Given the description of an element on the screen output the (x, y) to click on. 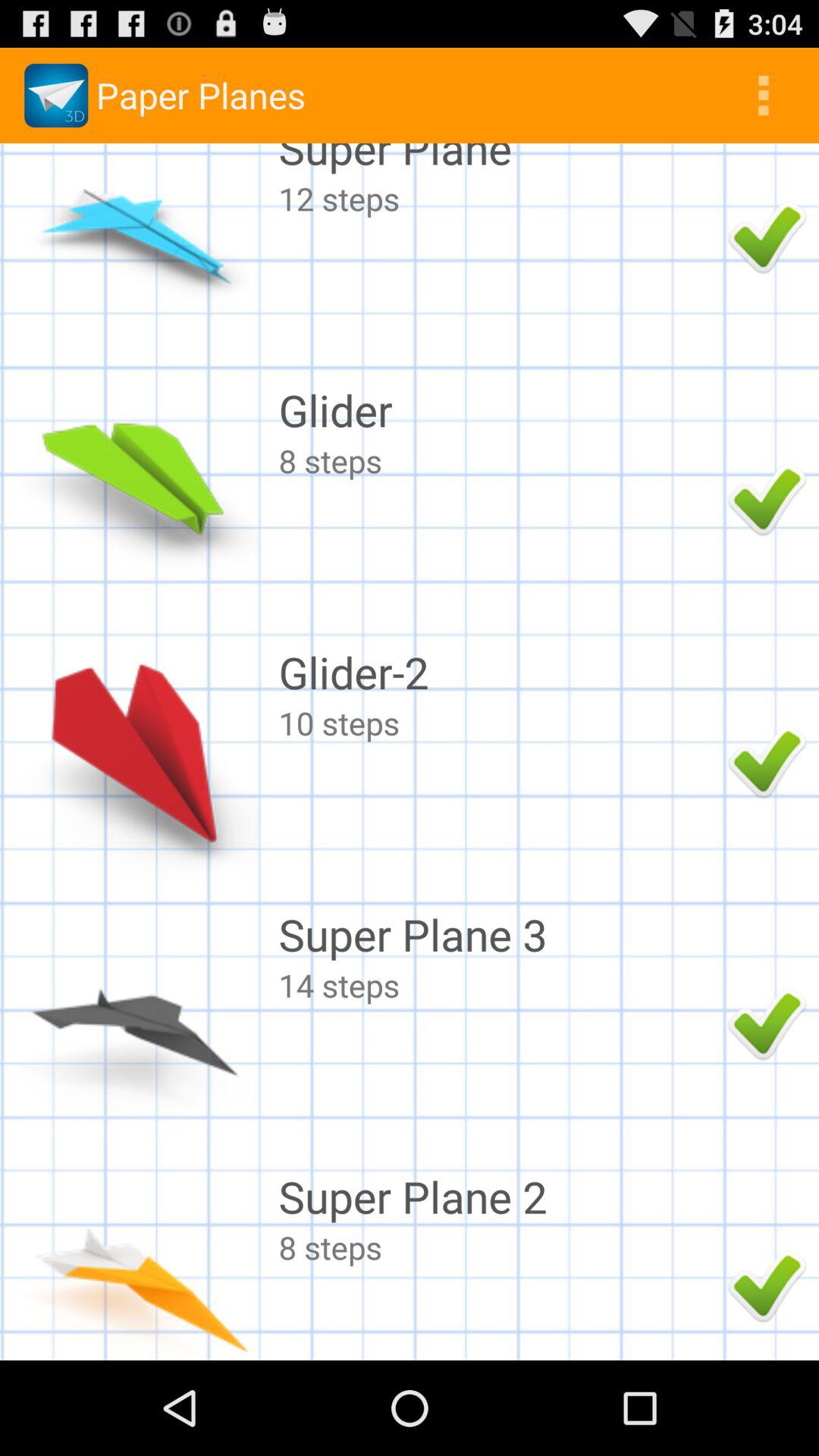
jump to 10 steps item (498, 722)
